Given the description of an element on the screen output the (x, y) to click on. 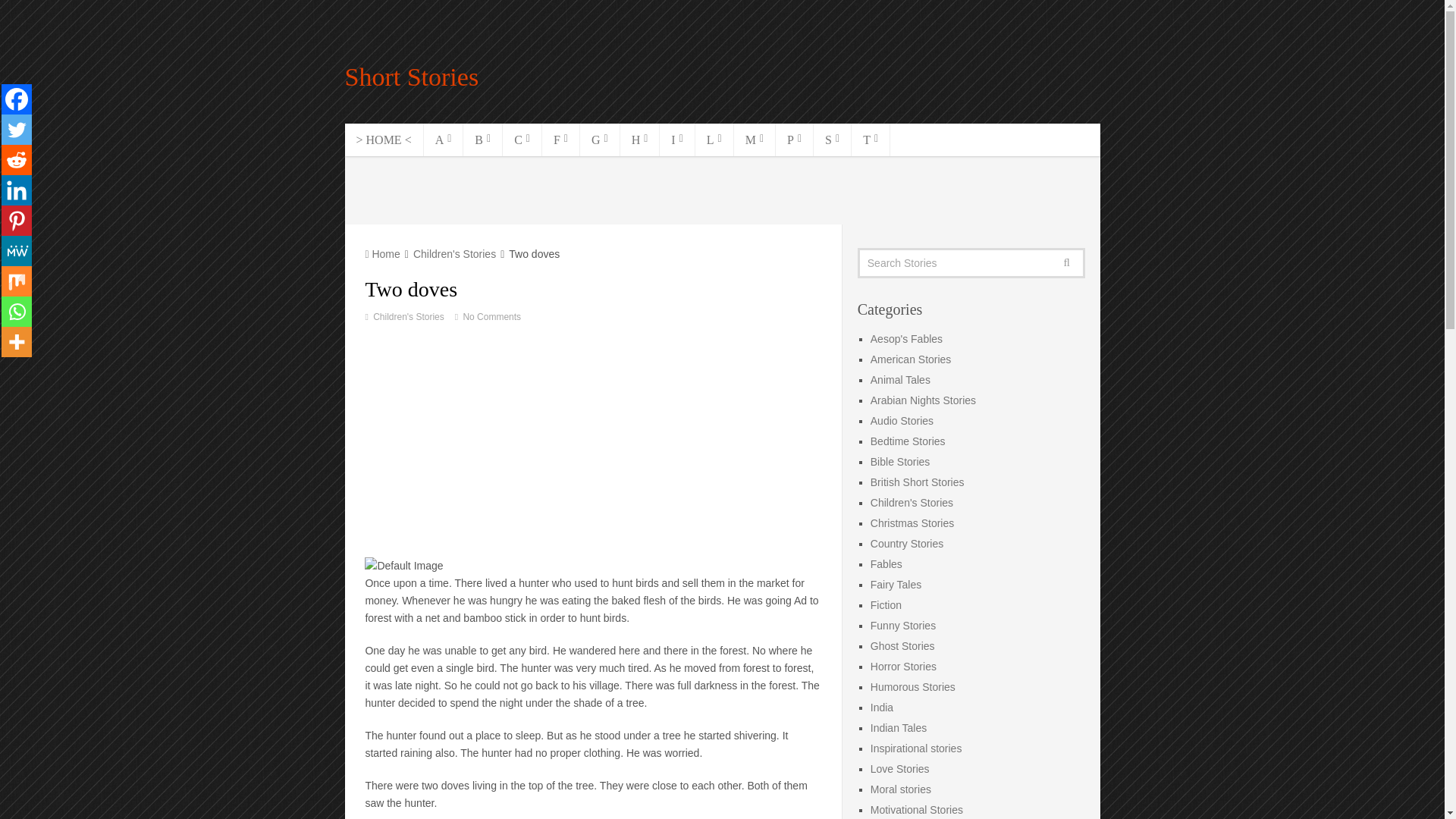
L (714, 139)
Linkedin (16, 190)
Twitter (16, 129)
G (599, 139)
T (870, 139)
S (832, 139)
M (754, 139)
Short Stories (411, 76)
H (640, 139)
P (794, 139)
